Given the description of an element on the screen output the (x, y) to click on. 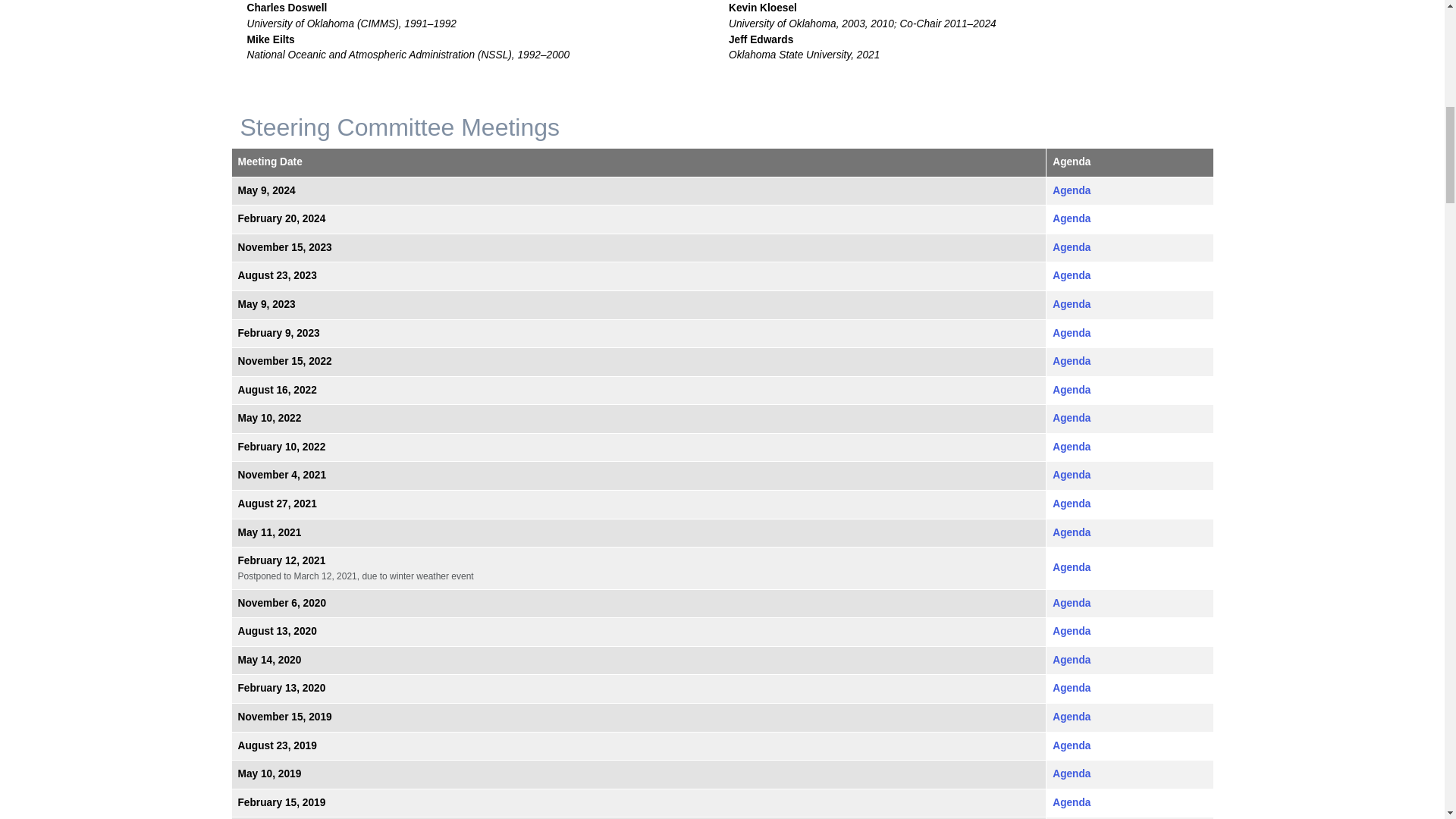
Agenda (1071, 218)
Agenda (1071, 247)
Agenda (1071, 275)
Agenda (1071, 190)
